Given the description of an element on the screen output the (x, y) to click on. 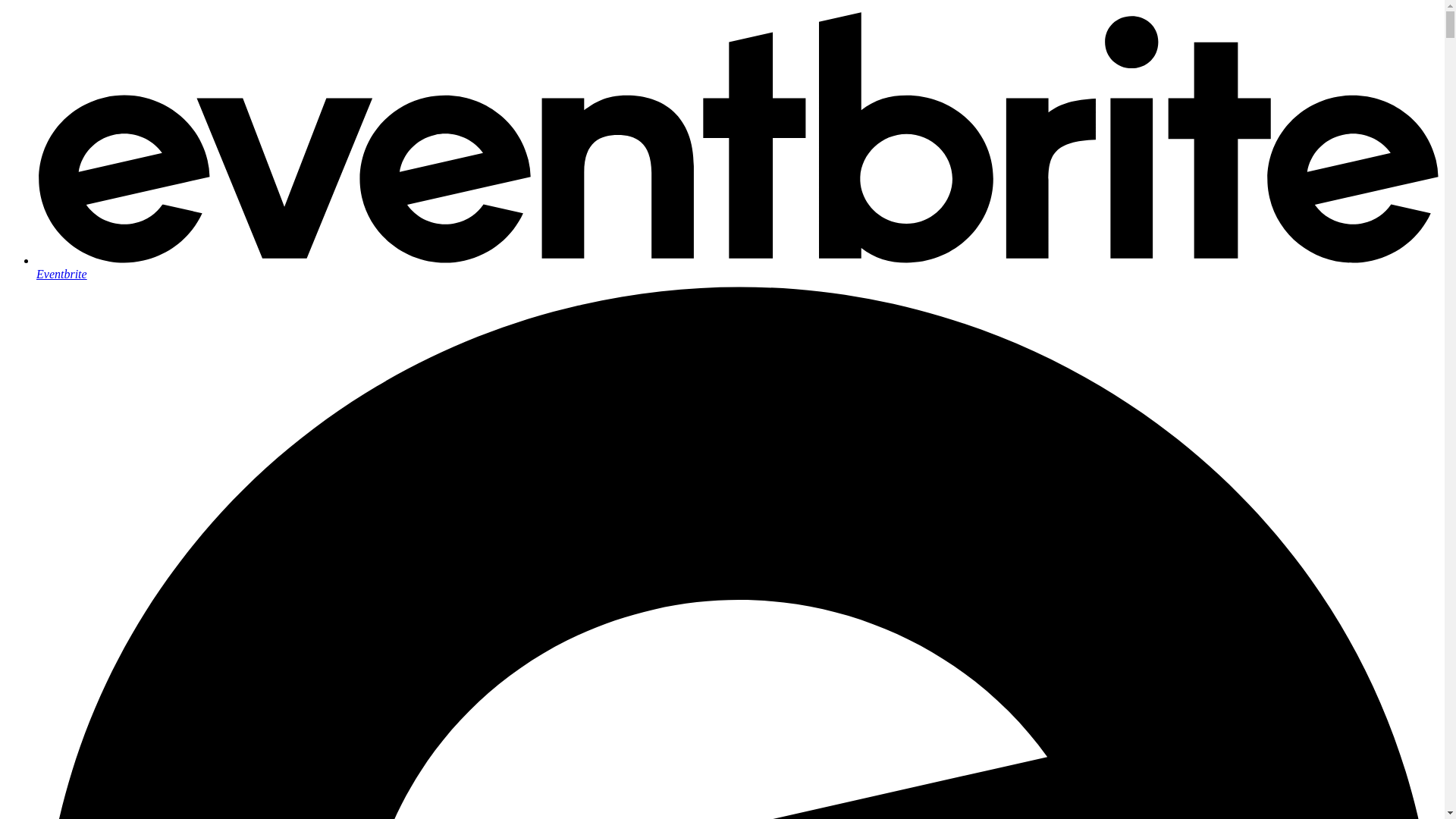
Eventbrite Element type: text (737, 267)
